Given the description of an element on the screen output the (x, y) to click on. 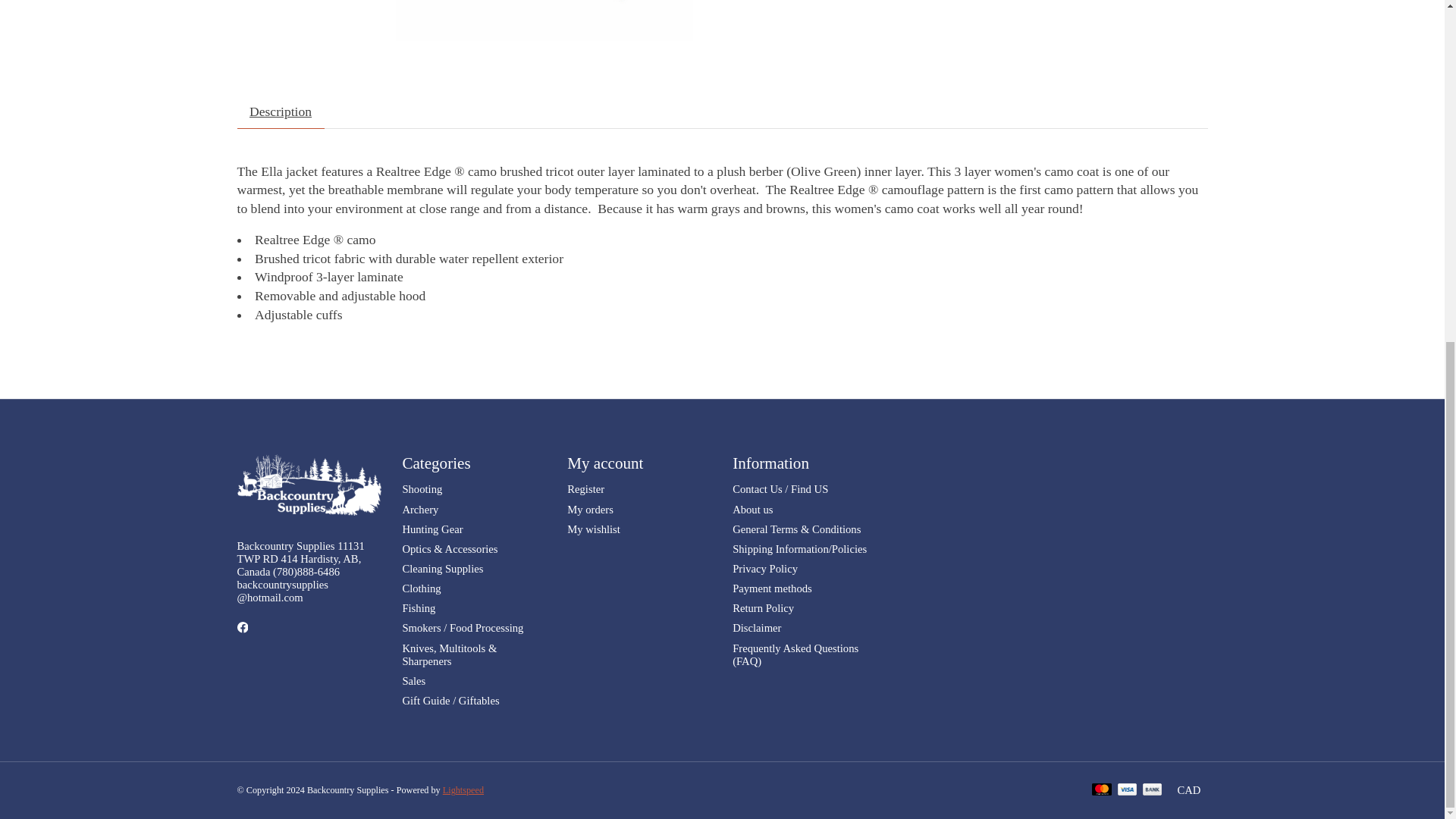
Register (585, 489)
My orders (589, 509)
My wishlist (593, 529)
Privacy Policy (764, 568)
About us (752, 509)
